Given the description of an element on the screen output the (x, y) to click on. 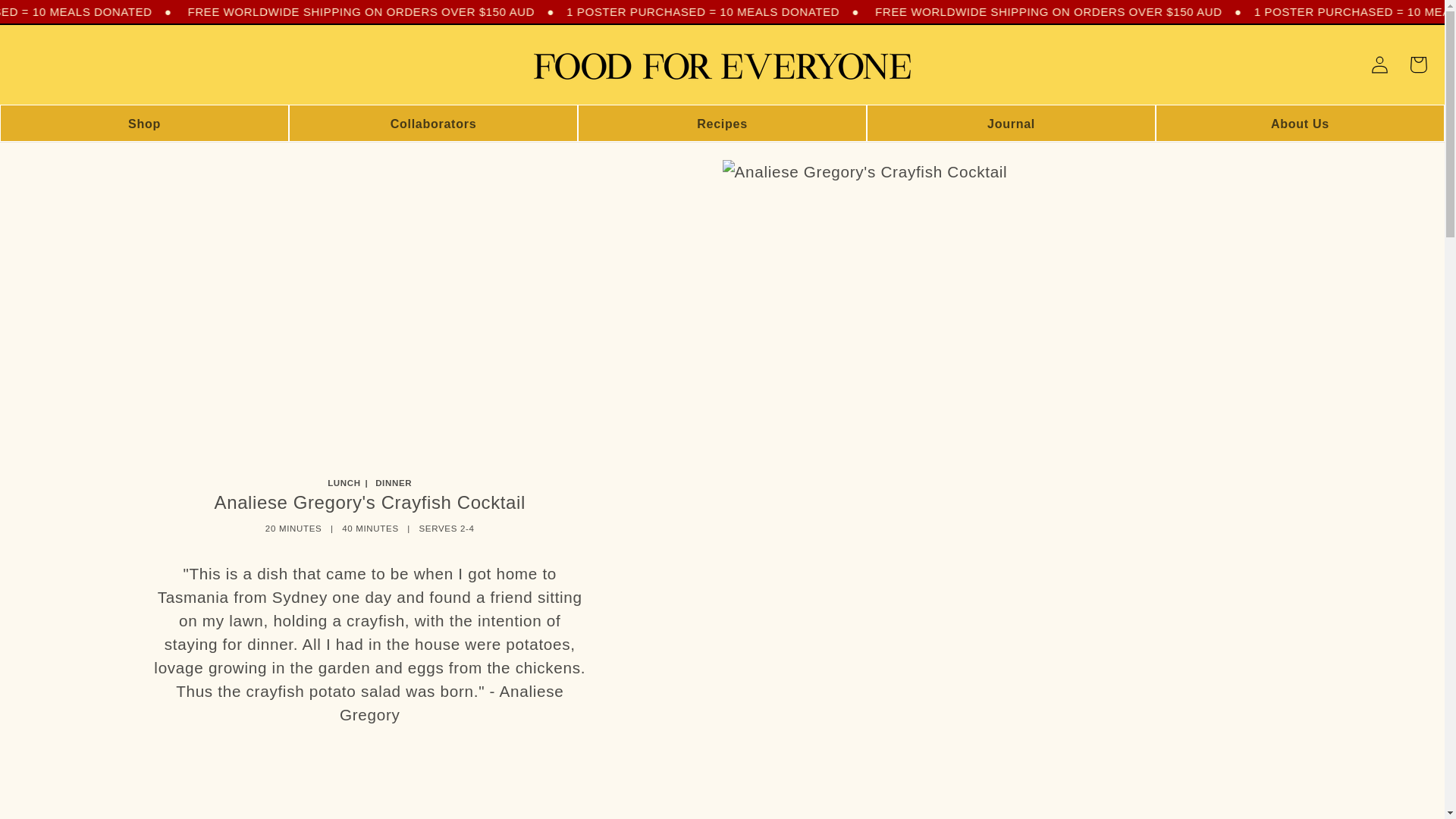
Journal (1010, 122)
About Us (1300, 122)
Cart (1418, 64)
Recipes (722, 122)
Log in (1380, 64)
SKIP TO CONTENT (52, 15)
Collaborators (432, 122)
